Given the description of an element on the screen output the (x, y) to click on. 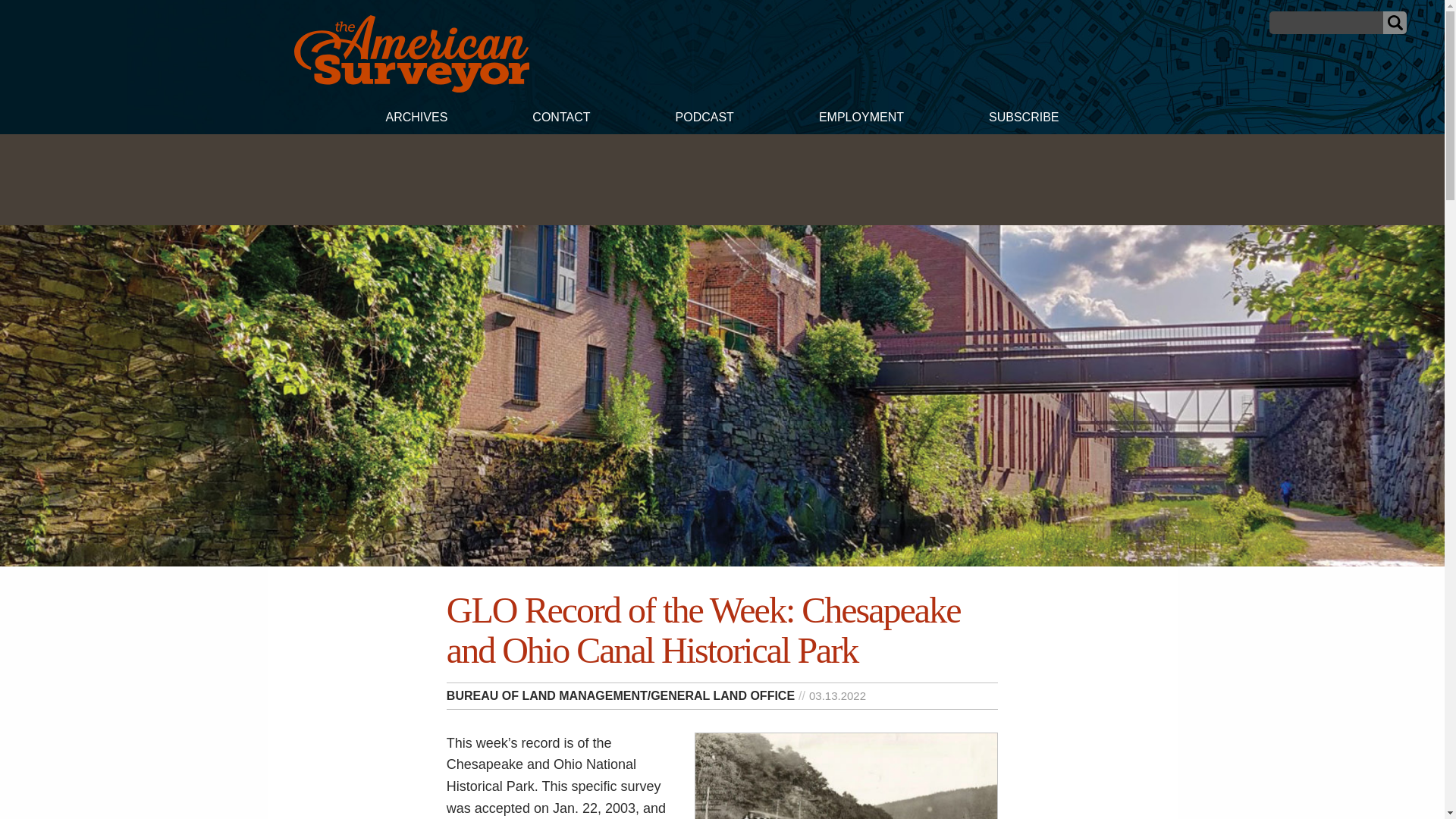
Submit (1394, 22)
Search for: (1326, 22)
SUBSCRIBE (1024, 119)
ARCHIVES (415, 119)
CONTACT (560, 119)
3rd party ad content (721, 179)
EMPLOYMENT (861, 119)
PODCAST (704, 119)
The American Surveyor (411, 88)
Submit (1394, 22)
The American Surveyor (411, 53)
Submit (1394, 22)
